Given the description of an element on the screen output the (x, y) to click on. 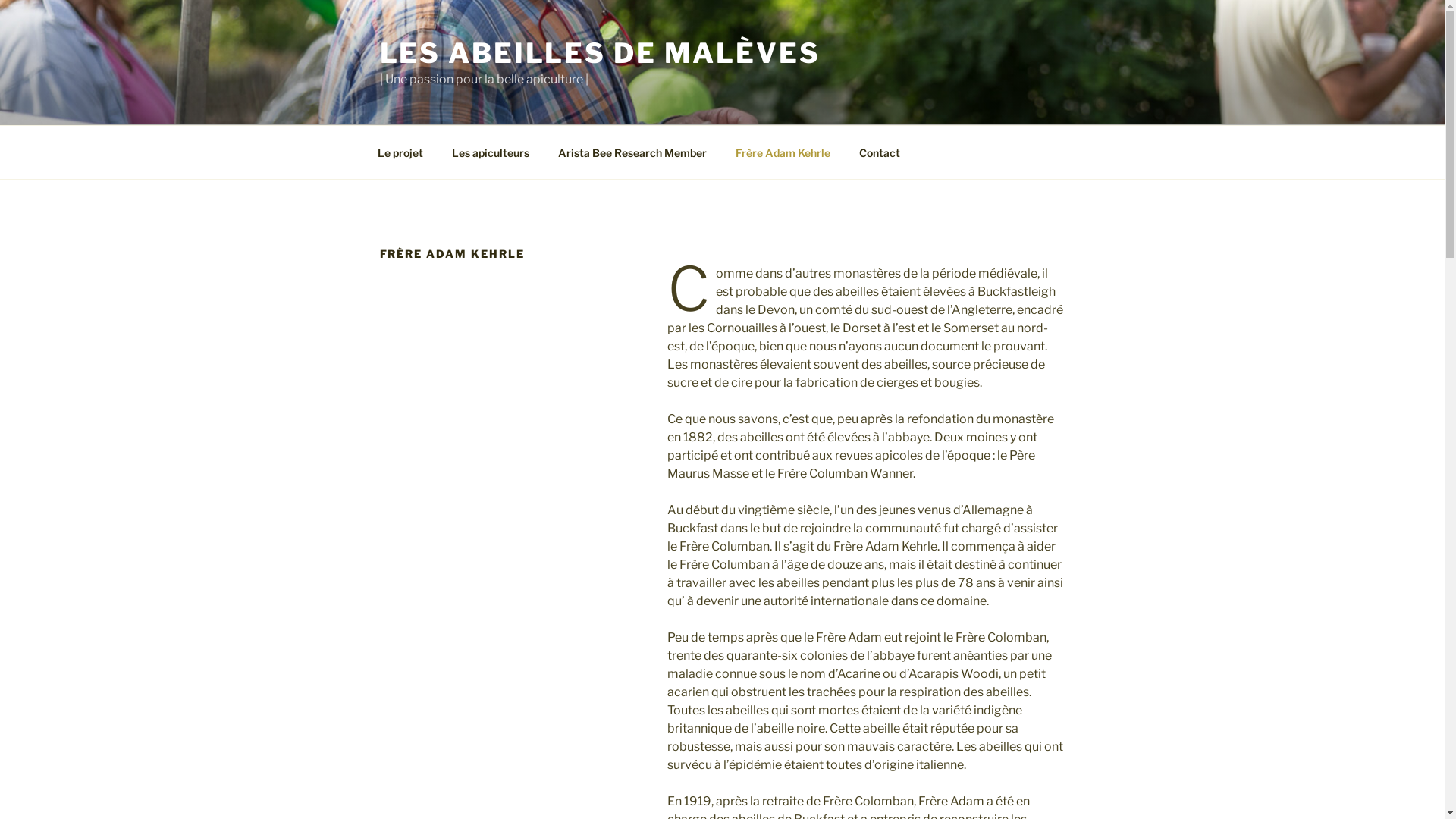
Le projet Element type: text (400, 151)
Arista Bee Research Member Element type: text (631, 151)
Contact Element type: text (879, 151)
Les apiculteurs Element type: text (490, 151)
